Given the description of an element on the screen output the (x, y) to click on. 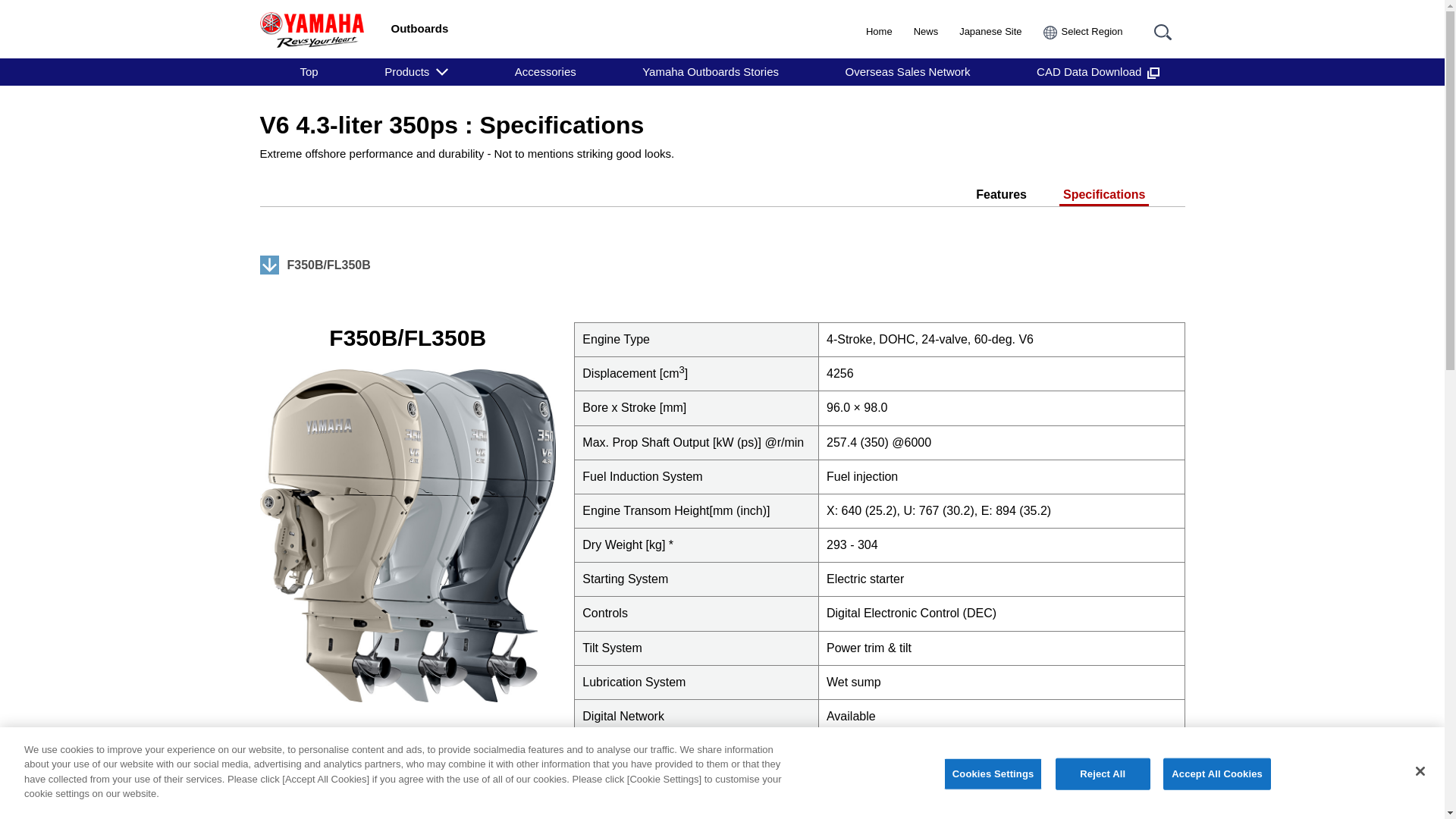
Home (879, 31)
Japanese Site (990, 31)
CAD Data Download (1097, 71)
Select Region (1082, 31)
Overseas Sales Network (908, 71)
News (926, 31)
Accessories (545, 71)
Yamaha Outboards Stories (710, 71)
Features (1001, 192)
Products (416, 71)
